Given the description of an element on the screen output the (x, y) to click on. 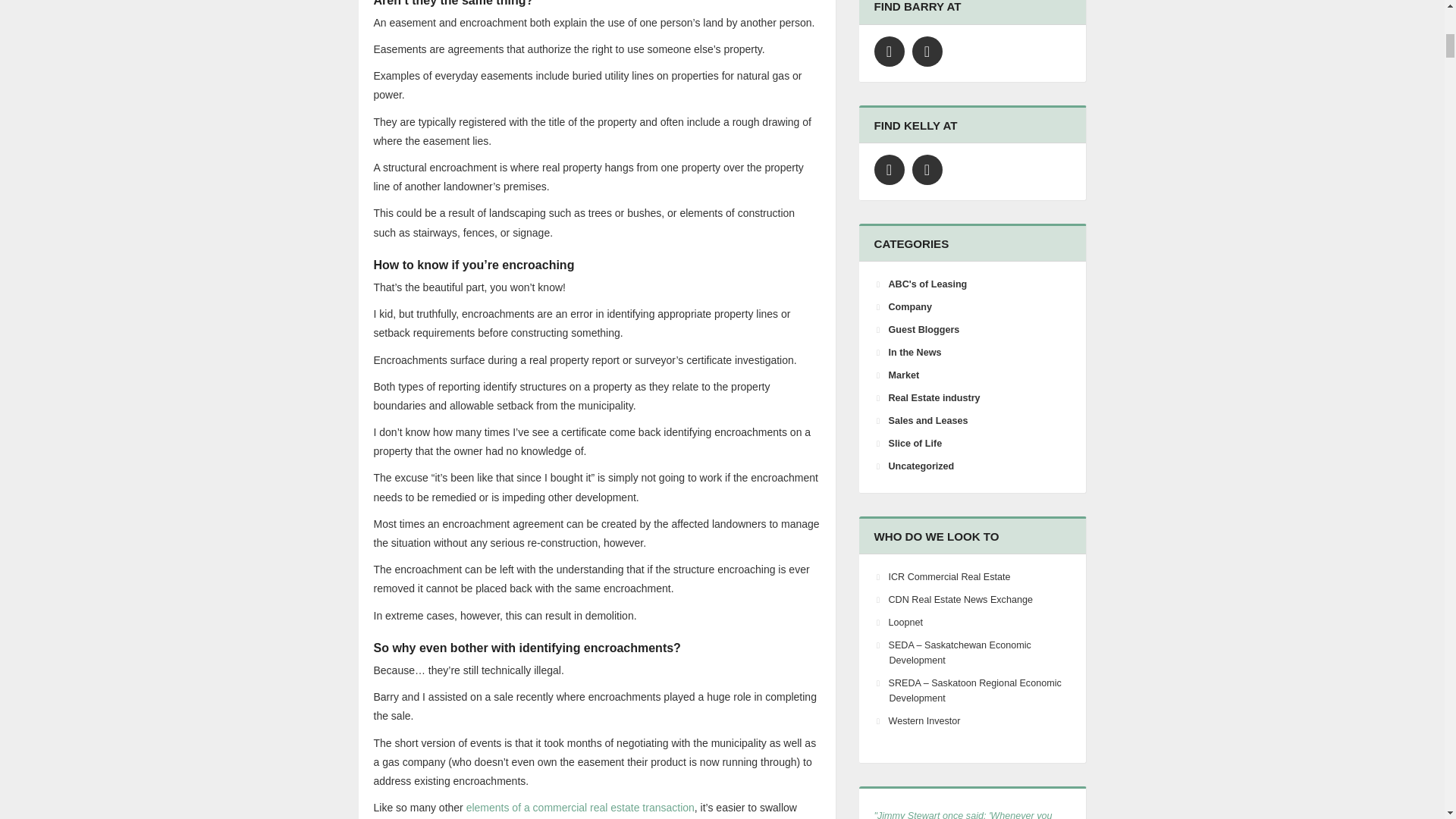
Twitter (888, 169)
elements of a commercial real estate transaction (579, 807)
LinkedIn (926, 169)
LinkedIn (926, 51)
Twitter (888, 51)
